Given the description of an element on the screen output the (x, y) to click on. 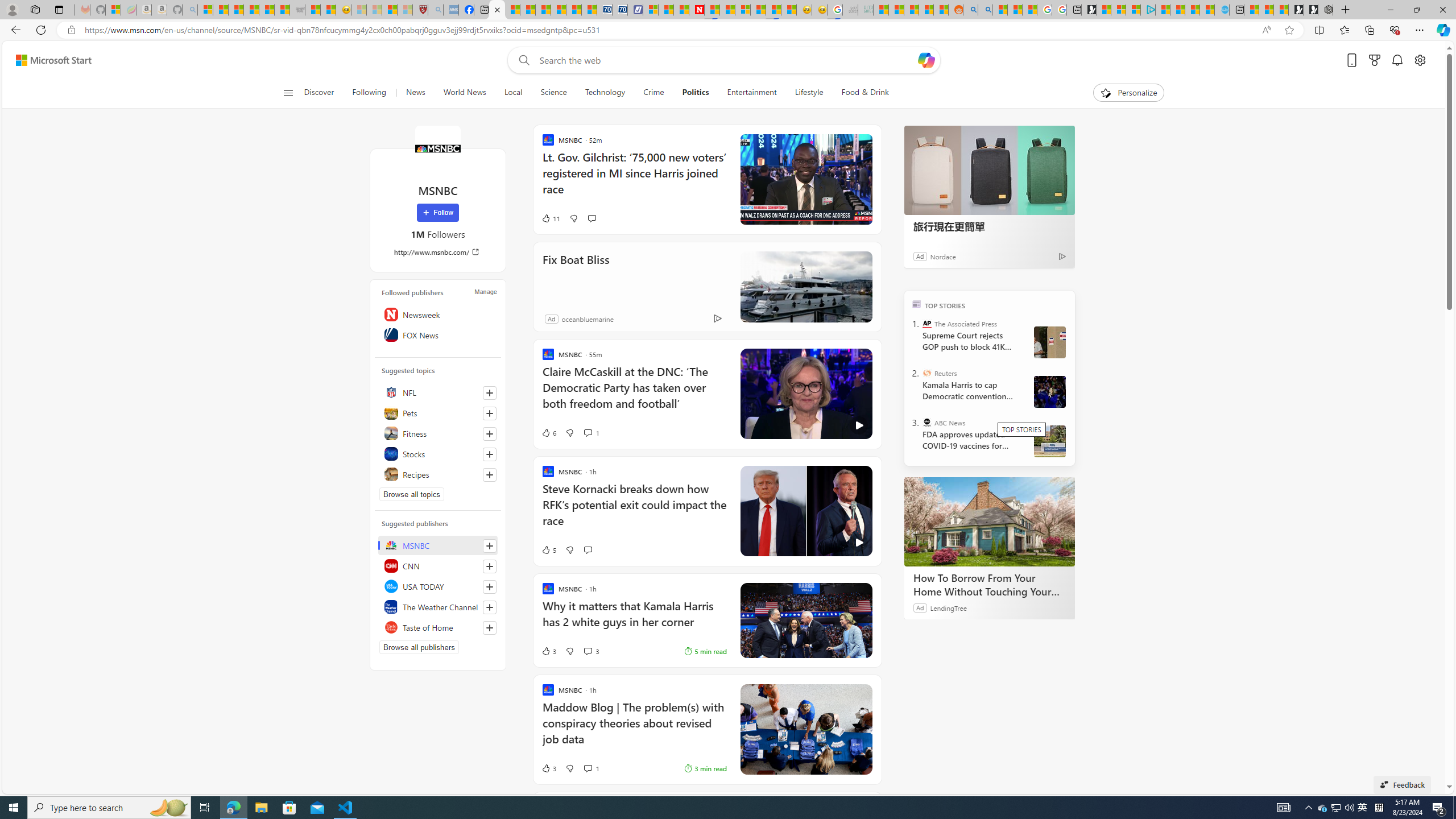
MSNBC (437, 545)
Fix Boat Bliss (805, 286)
